Given the description of an element on the screen output the (x, y) to click on. 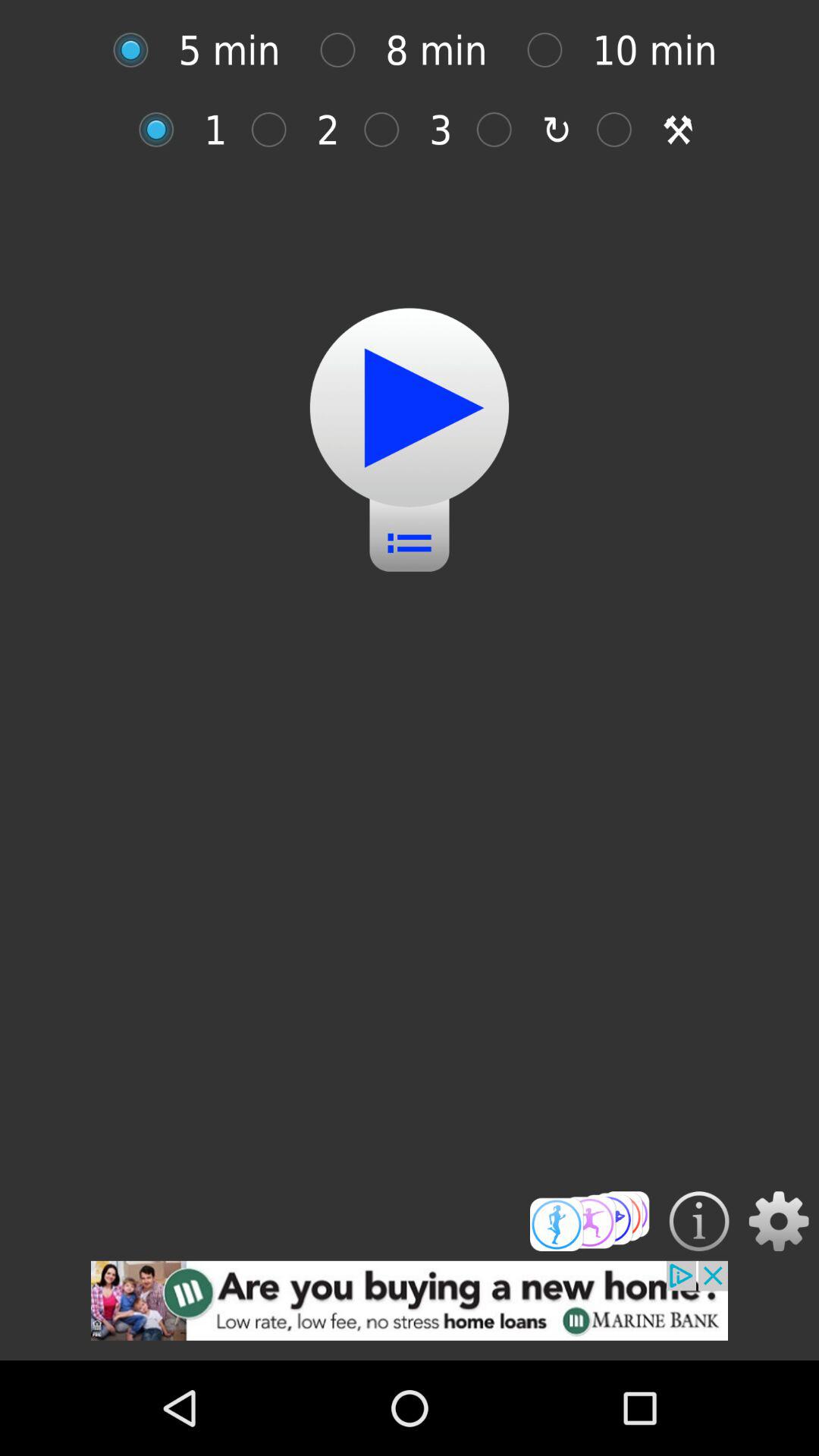
click to details (699, 1221)
